Given the description of an element on the screen output the (x, y) to click on. 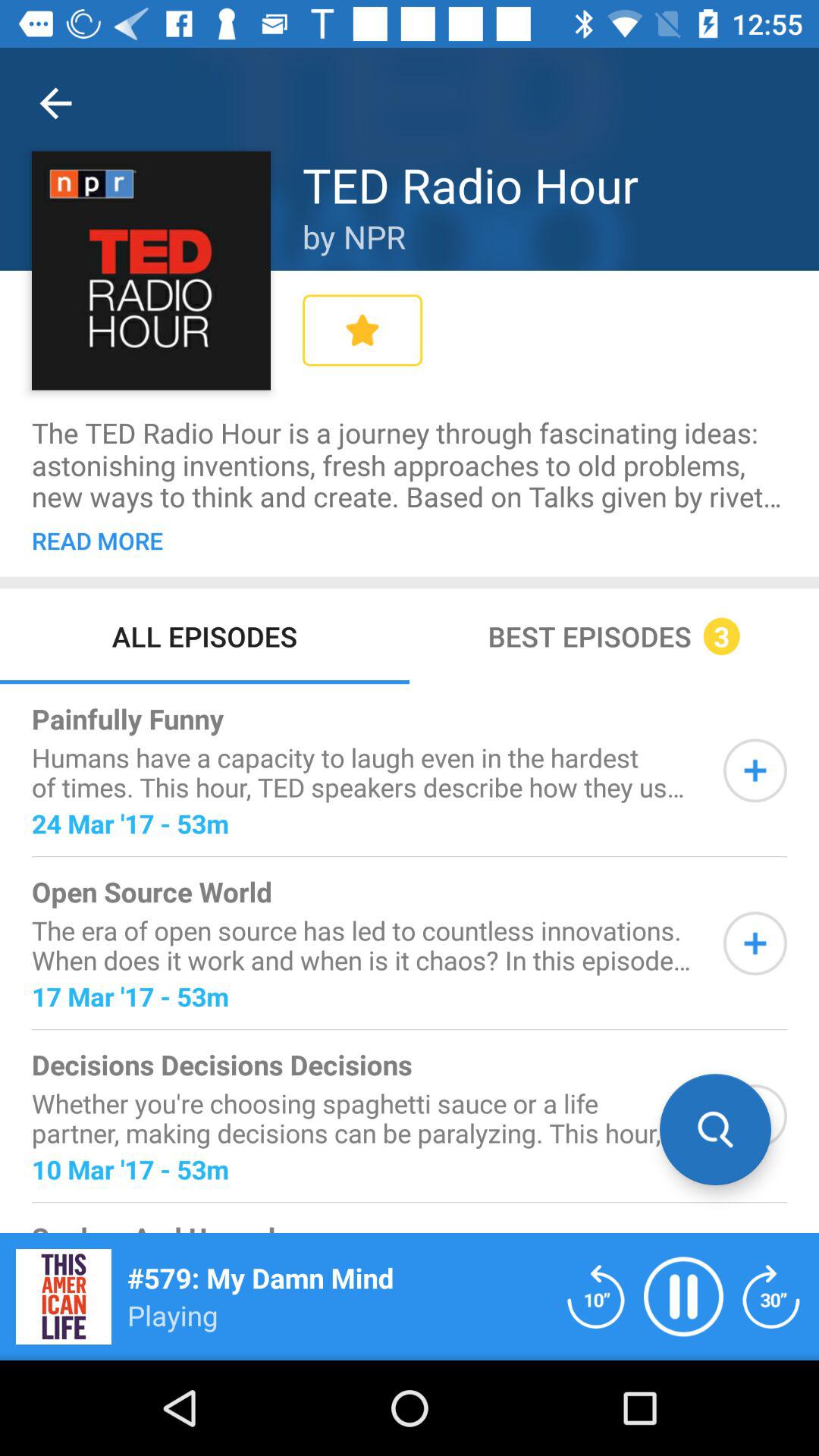
back 10 seconds (595, 1296)
